Given the description of an element on the screen output the (x, y) to click on. 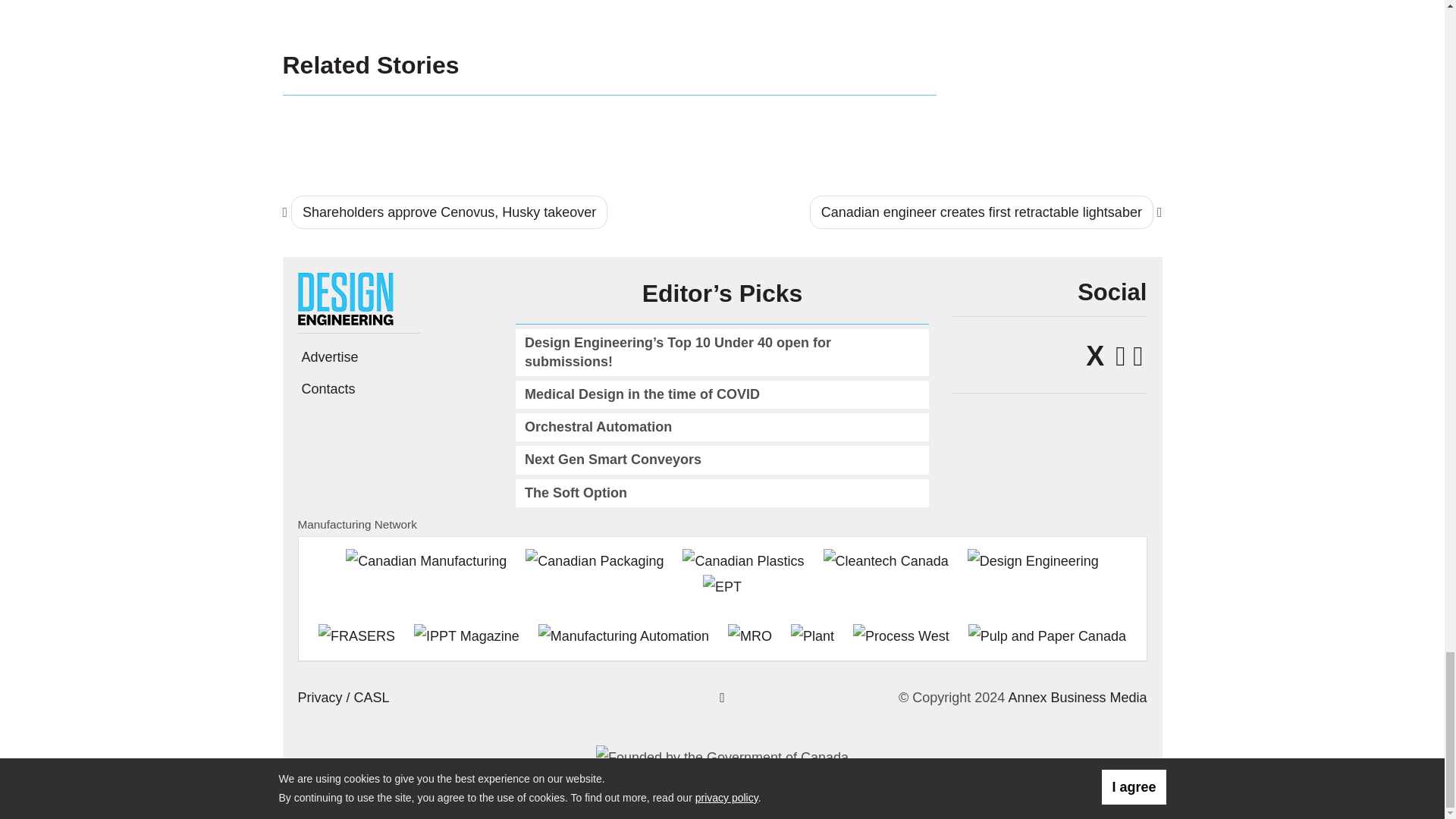
Annex Business Media (1077, 697)
Design Engineering (350, 297)
